Given the description of an element on the screen output the (x, y) to click on. 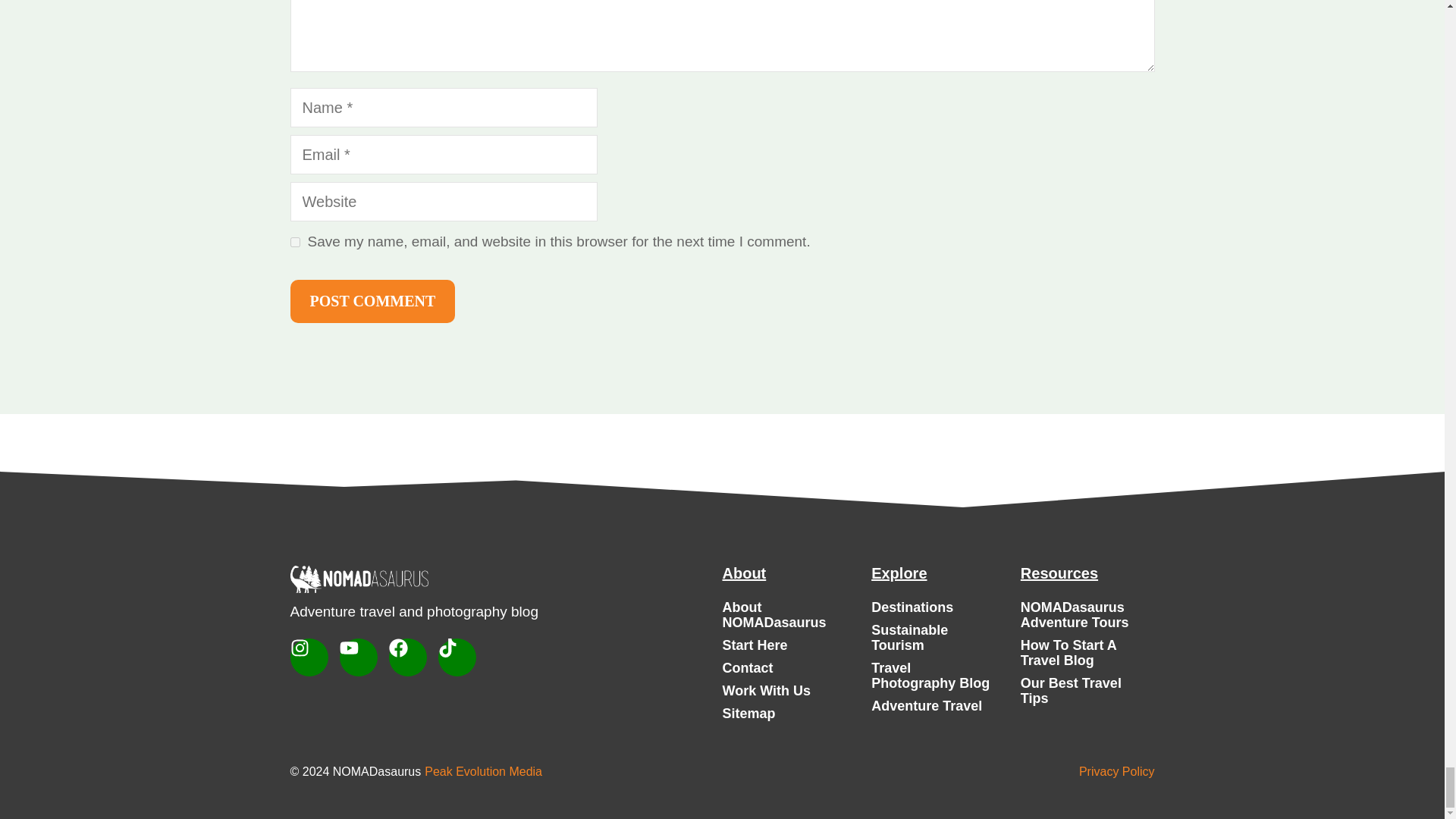
yes (294, 242)
Post Comment (371, 301)
